Given the description of an element on the screen output the (x, y) to click on. 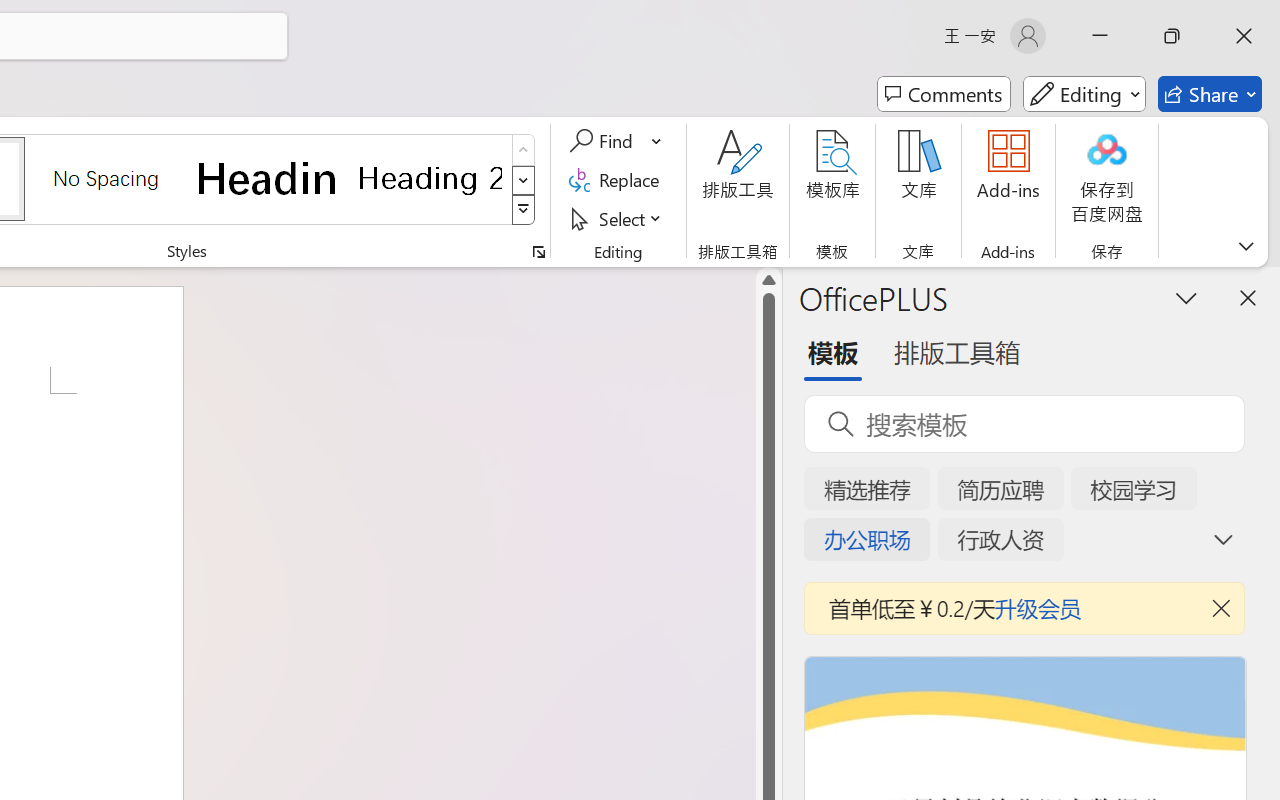
Select (618, 218)
Restore Down (1172, 36)
Class: NetUIImage (523, 210)
Find (604, 141)
Heading 1 (267, 178)
Mode (1083, 94)
Minimize (1099, 36)
Line up (769, 279)
Row Down (523, 180)
